Given the description of an element on the screen output the (x, y) to click on. 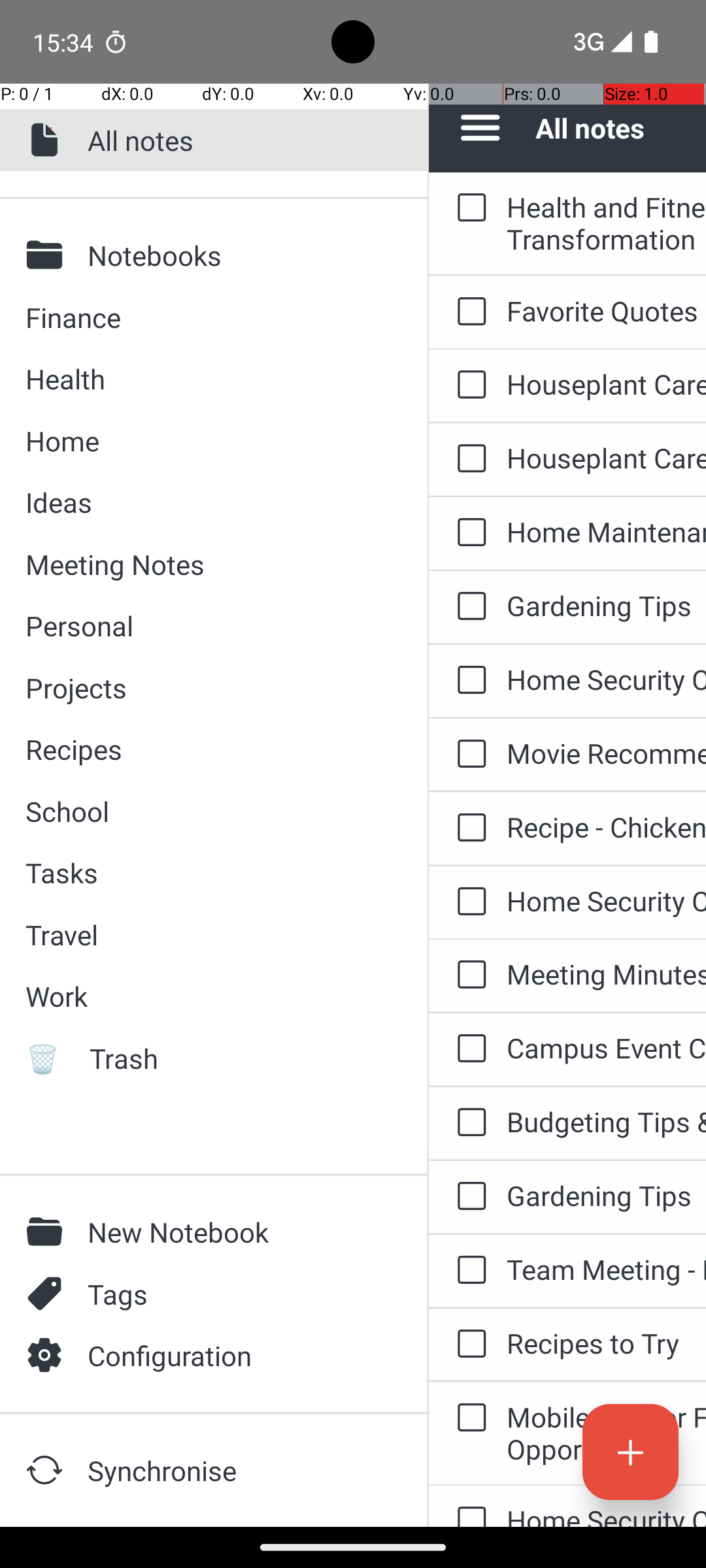
 Element type: android.widget.TextView (47, 254)
Notebooks Element type: android.widget.TextView (235, 254)
 Element type: android.widget.TextView (47, 1231)
New Notebook Element type: android.widget.TextView (235, 1231)
 Element type: android.widget.TextView (47, 1293)
 Element type: android.widget.TextView (47, 1354)
Configuration Element type: android.widget.TextView (235, 1354)
 Element type: android.widget.TextView (47, 1469)
Synchronise Element type: android.widget.TextView (235, 1469)
to-do: Health and Fitness Challenge - 30-Day Transformation Element type: android.widget.CheckBox (467, 208)
Health and Fitness Challenge - 30-Day Transformation Element type: android.widget.TextView (606, 222)
to-do: Favorite Quotes Element type: android.widget.CheckBox (467, 312)
Favorite Quotes Element type: android.widget.TextView (606, 310)
to-do: Houseplant Care Guide Element type: android.widget.CheckBox (467, 385)
Houseplant Care Guide Element type: android.widget.TextView (606, 383)
to-do: Gardening Tips Element type: android.widget.CheckBox (467, 606)
Gardening Tips Element type: android.widget.TextView (606, 604)
to-do: Home Security Checklist Element type: android.widget.CheckBox (467, 680)
Home Security Checklist Element type: android.widget.TextView (606, 678)
to-do: Movie Recommendations Element type: android.widget.CheckBox (467, 754)
Movie Recommendations Element type: android.widget.TextView (606, 752)
to-do: Recipe - Chicken Noodle Soup Element type: android.widget.CheckBox (467, 828)
Recipe - Chicken Noodle Soup Element type: android.widget.TextView (606, 826)
to-do: Meeting Minutes - Weekly Team Update Element type: android.widget.CheckBox (467, 975)
Meeting Minutes - Weekly Team Update Element type: android.widget.TextView (606, 973)
to-do: Campus Event Calendar Element type: android.widget.CheckBox (467, 1049)
Campus Event Calendar Element type: android.widget.TextView (606, 1047)
to-do: Team Meeting - May 6, 2024 Element type: android.widget.CheckBox (467, 1270)
Team Meeting - May 6, 2024 Element type: android.widget.TextView (606, 1268)
to-do: Recipes to Try Element type: android.widget.CheckBox (467, 1344)
Recipes to Try Element type: android.widget.TextView (606, 1342)
to-do: Mobile App for Finding Local Volunteer Opportunities Element type: android.widget.CheckBox (467, 1418)
 Element type: android.widget.TextView (47, 139)
🗑️ Element type: android.widget.TextView (48, 1057)
